Given the description of an element on the screen output the (x, y) to click on. 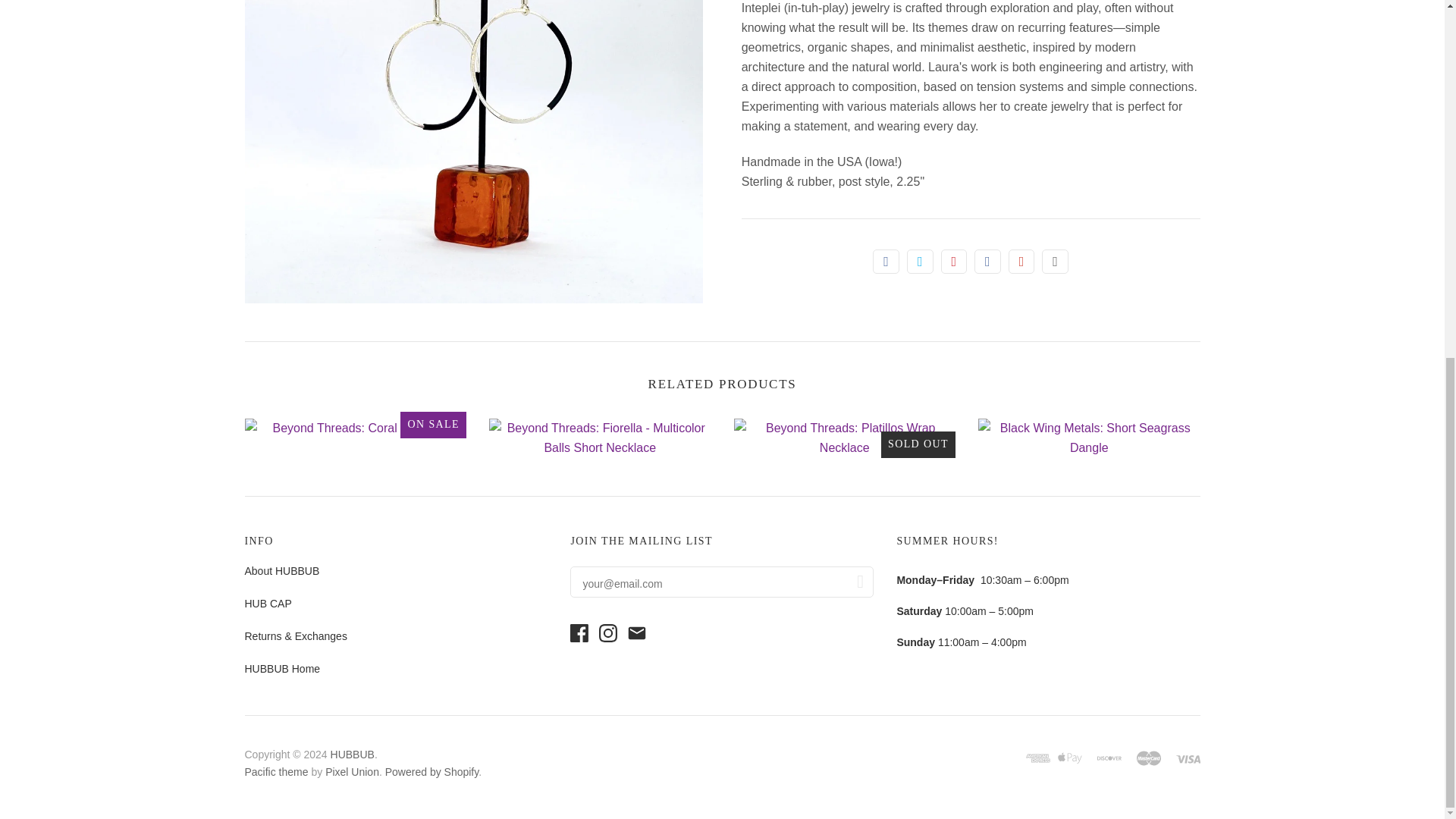
Instagram (607, 633)
Like (885, 261)
Fancy (987, 261)
Tweet (920, 261)
Mail (636, 633)
Pin it (954, 261)
Facebook (579, 633)
Email (1055, 261)
